Given the description of an element on the screen output the (x, y) to click on. 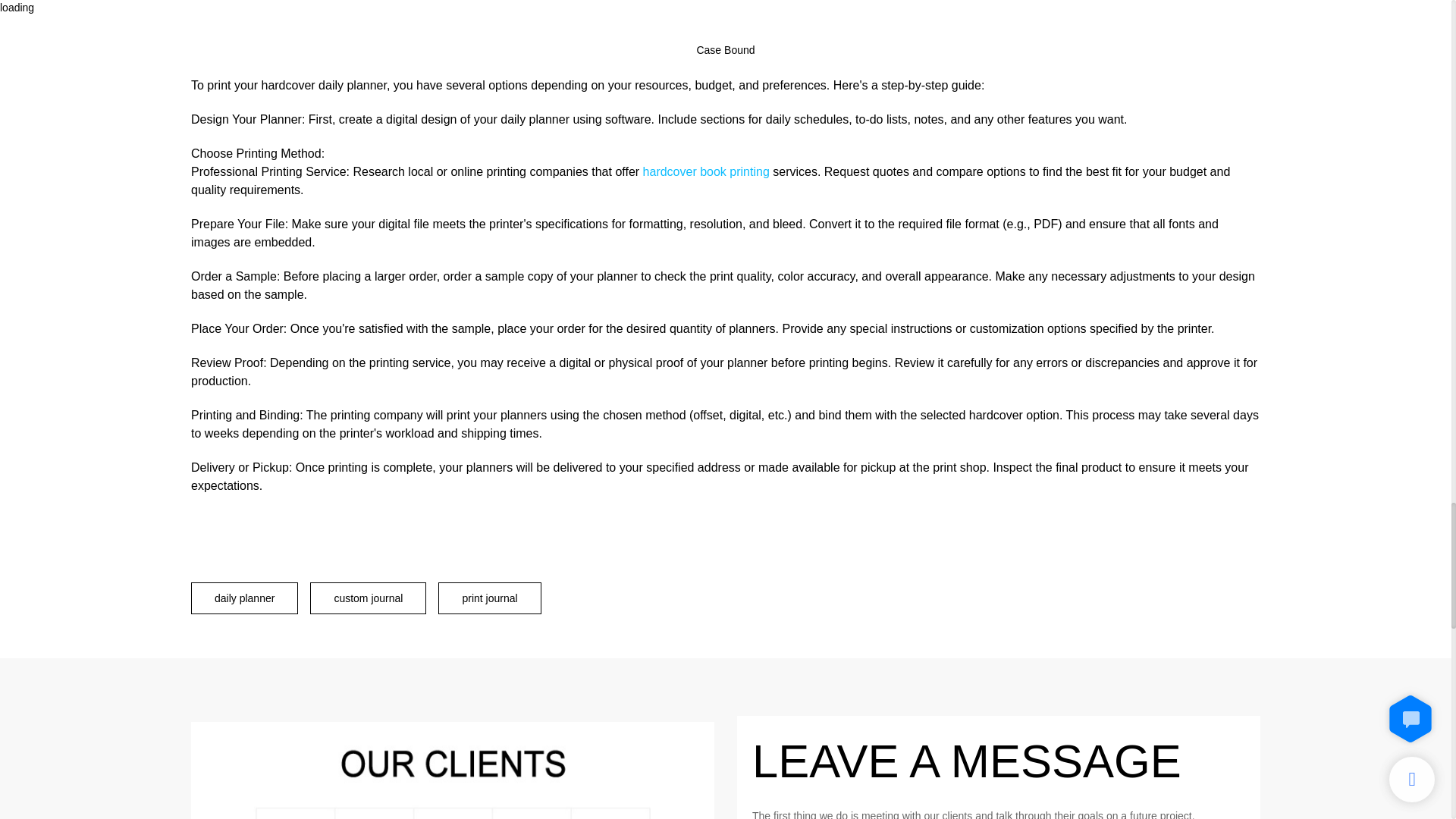
hardcover book printing (706, 171)
